Given the description of an element on the screen output the (x, y) to click on. 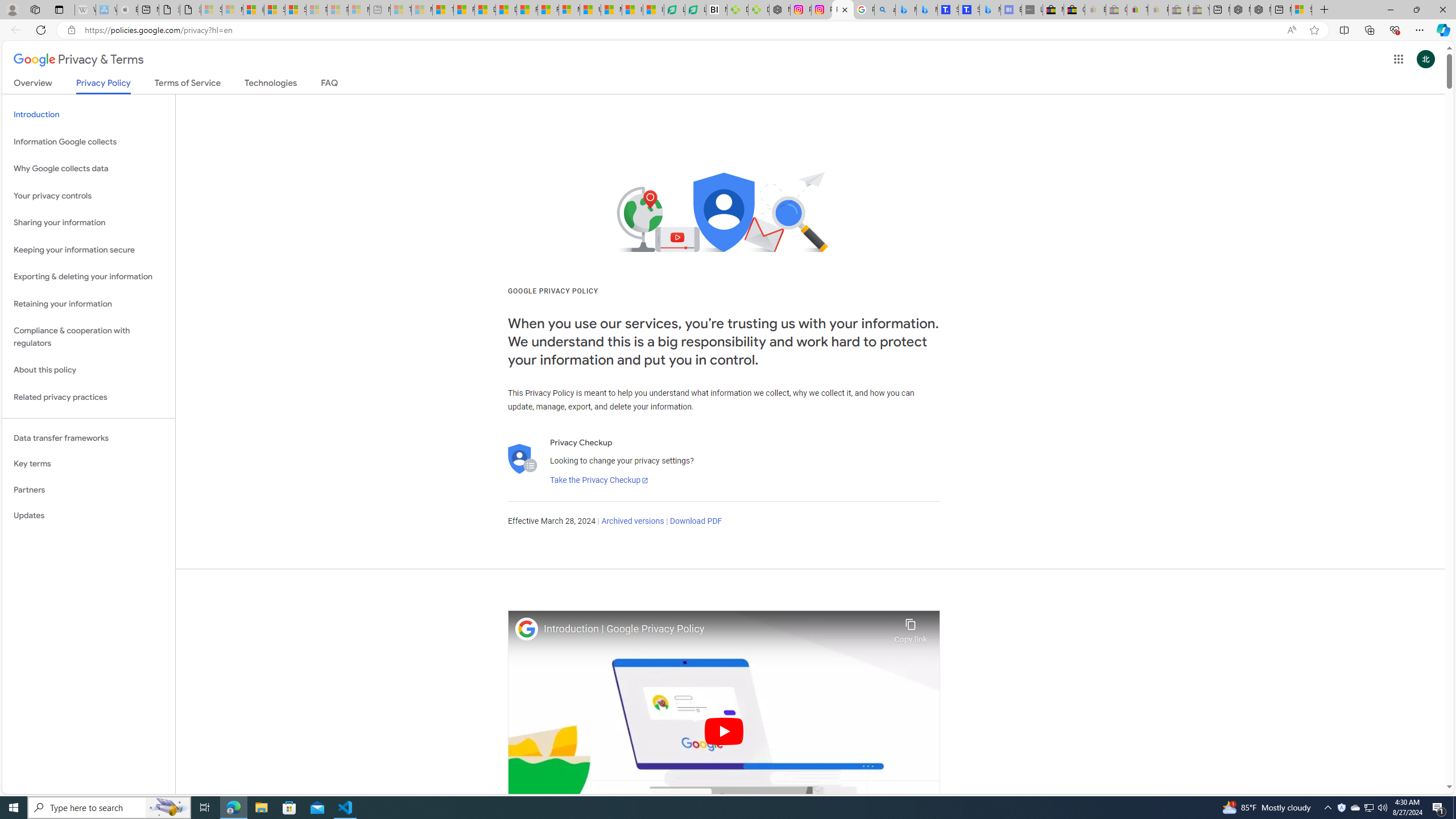
FAQ (328, 84)
Copy link (910, 627)
Exporting & deleting your information (88, 276)
Sharing your information (88, 222)
Nvidia va a poner a prueba la paciencia de los inversores (716, 9)
Threats and offensive language policy | eBay (1137, 9)
Microsoft Services Agreement - Sleeping (231, 9)
Sign in to your Microsoft account (1301, 9)
Download PDF (695, 521)
US Heat Deaths Soared To Record High Last Year (590, 9)
